Given the description of an element on the screen output the (x, y) to click on. 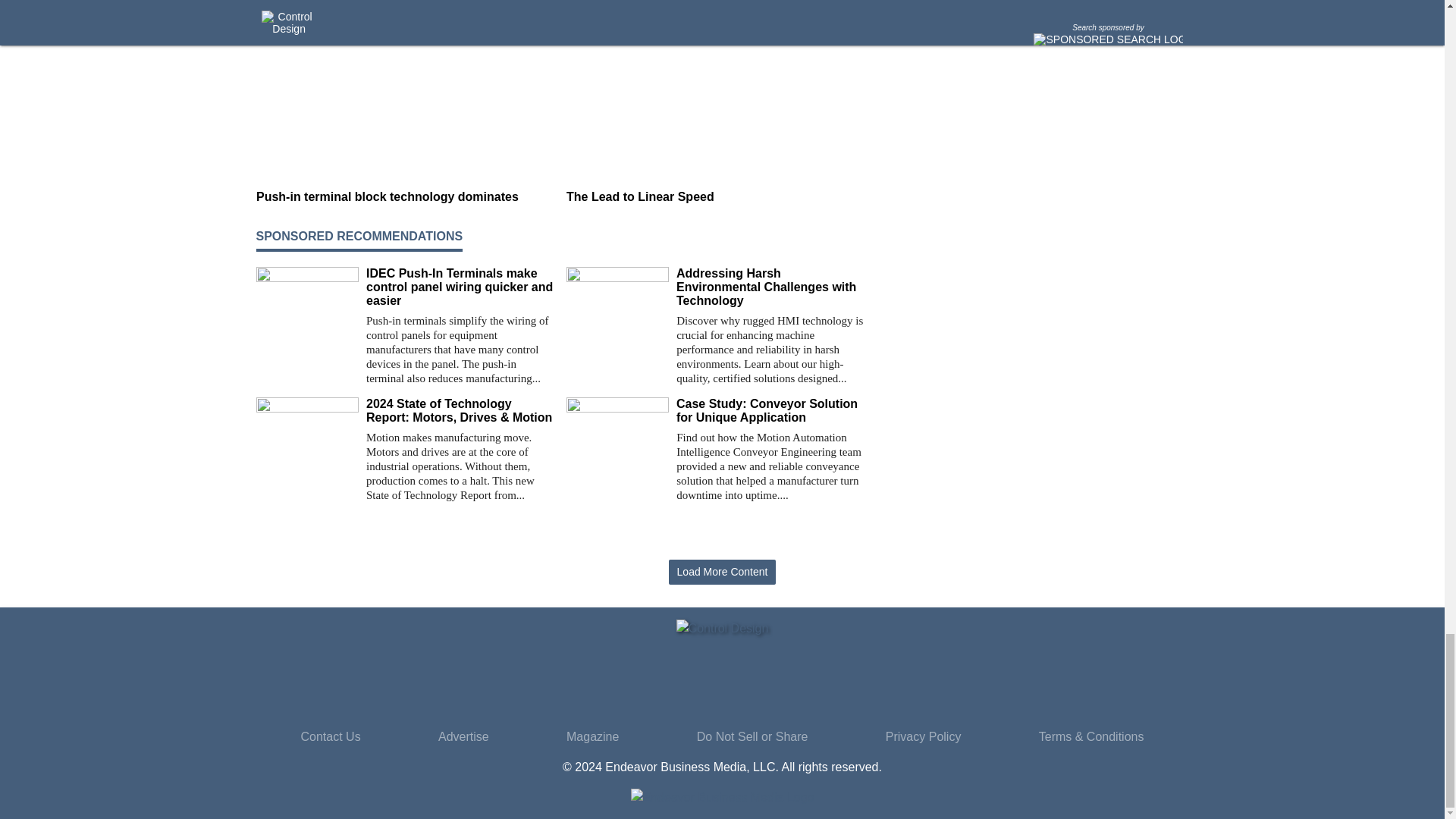
Addressing Harsh Environmental Challenges with Technology (770, 286)
Push-in terminal block technology dominates (405, 196)
The Lead to Linear Speed (715, 196)
Case Study: Conveyor Solution for Unique Application (770, 411)
